Given the description of an element on the screen output the (x, y) to click on. 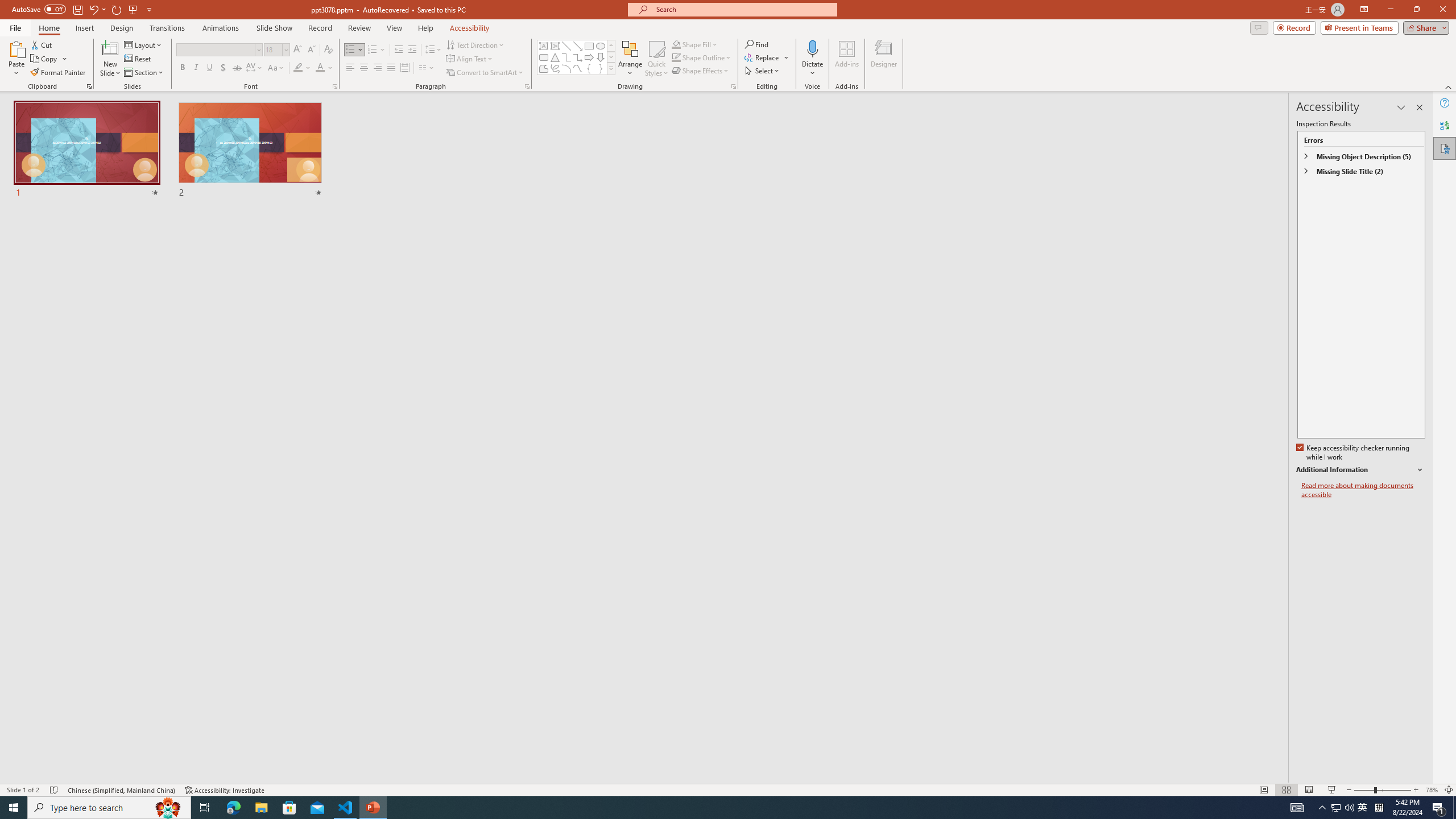
Additional Information (1360, 469)
